Given the description of an element on the screen output the (x, y) to click on. 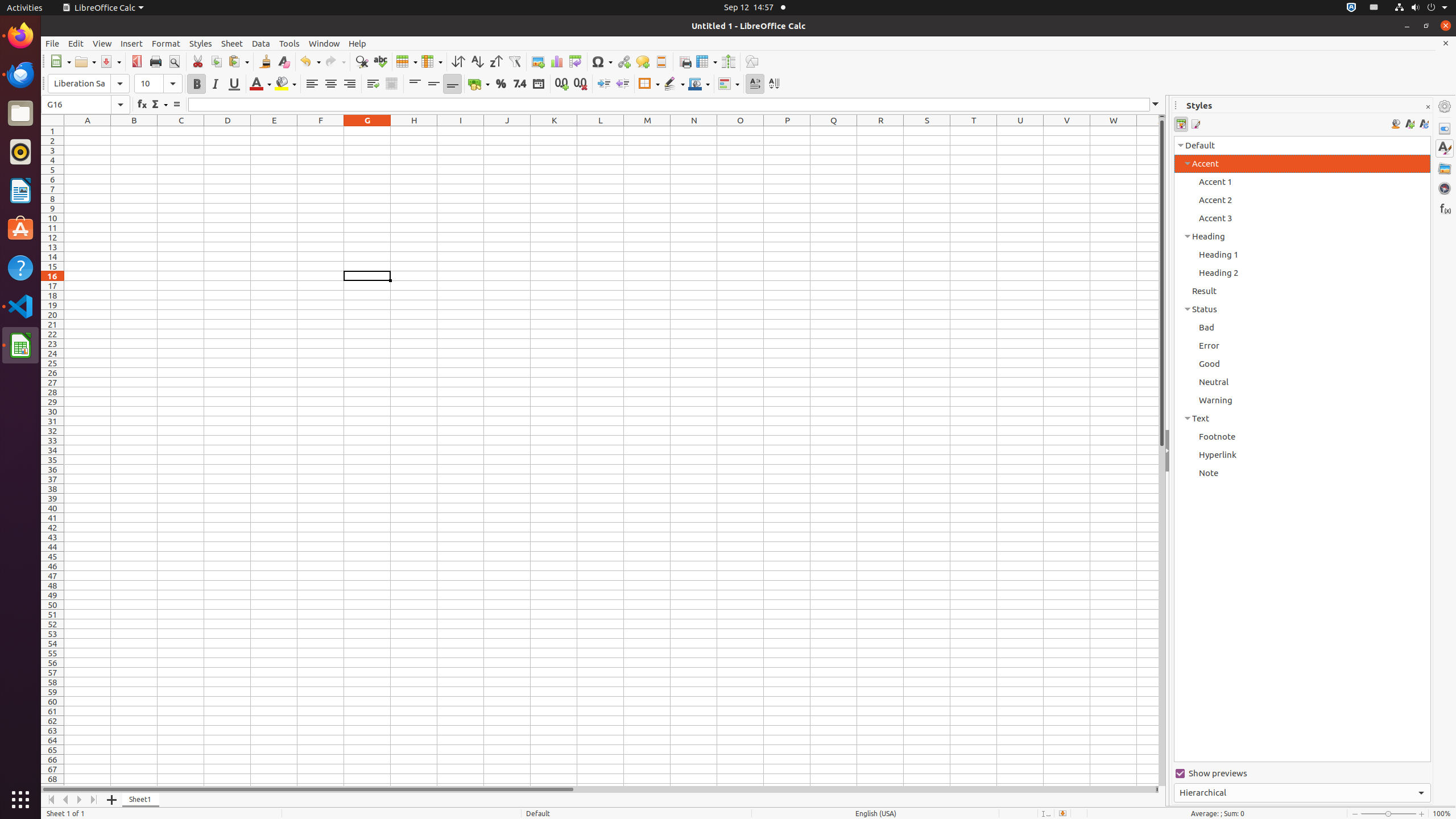
Name Box Element type: combo-box (85, 104)
Show previews Element type: check-box (1301, 773)
V1 Element type: table-cell (1066, 130)
Pivot Table Element type: push-button (574, 61)
Sheet Sheet1 Element type: table (611, 456)
